Given the description of an element on the screen output the (x, y) to click on. 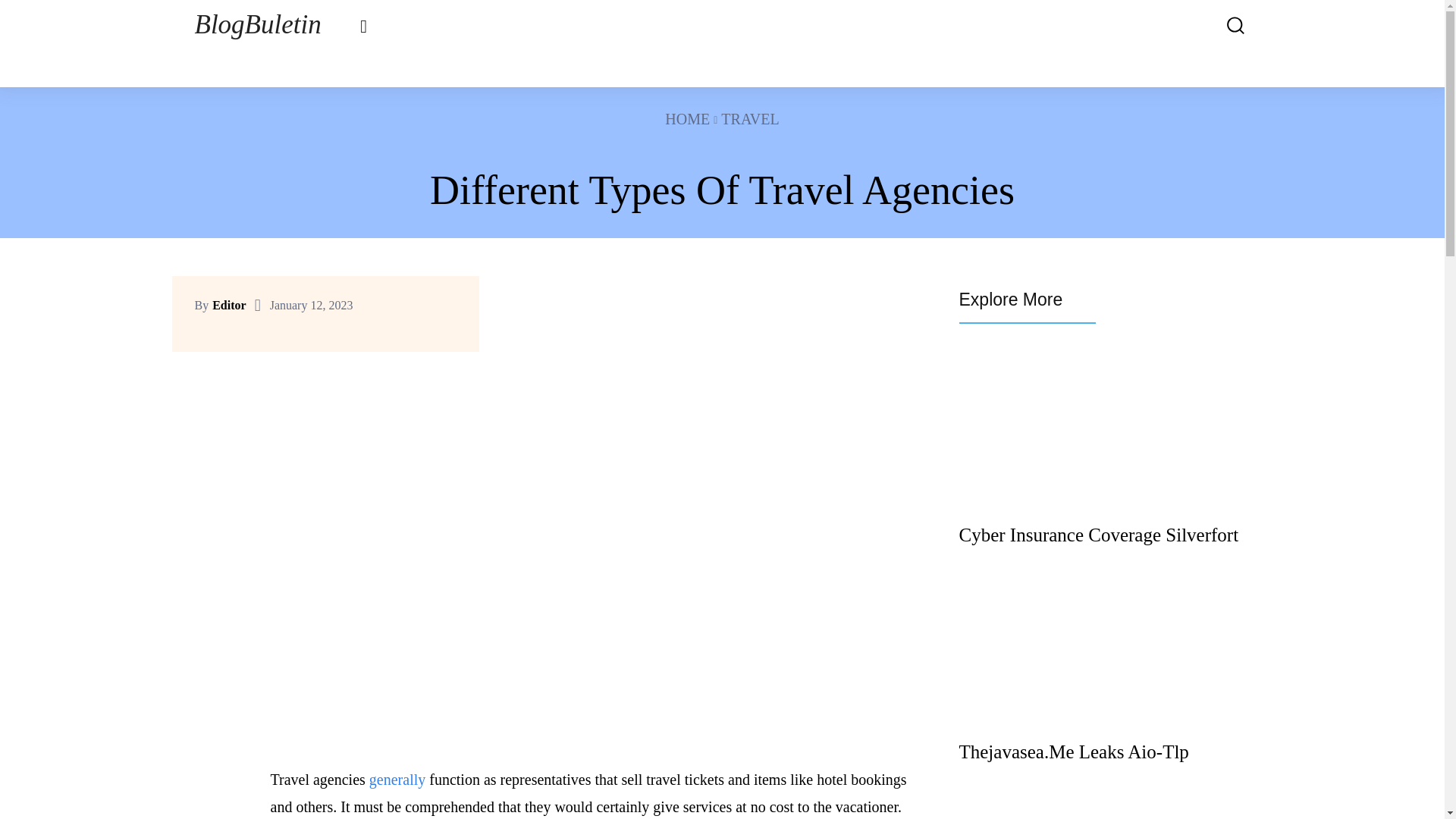
Tickzoo: Exploring the Digital Frontier (1103, 809)
generally (397, 779)
TRAVEL (749, 118)
Cyber Insurance Coverage Silverfort (1098, 534)
Cyber Insurance Coverage Silverfort (1098, 534)
Editor (229, 305)
Cyber Insurance Coverage Silverfort (1103, 438)
Thejavasea.Me Leaks Aio-Tlp (1073, 752)
BlogBuletin (256, 25)
Thejavasea.Me Leaks Aio-Tlp (1103, 655)
View all posts in Travel (749, 118)
Thejavasea.Me Leaks Aio-Tlp (1073, 752)
HOME (687, 118)
